Given the description of an element on the screen output the (x, y) to click on. 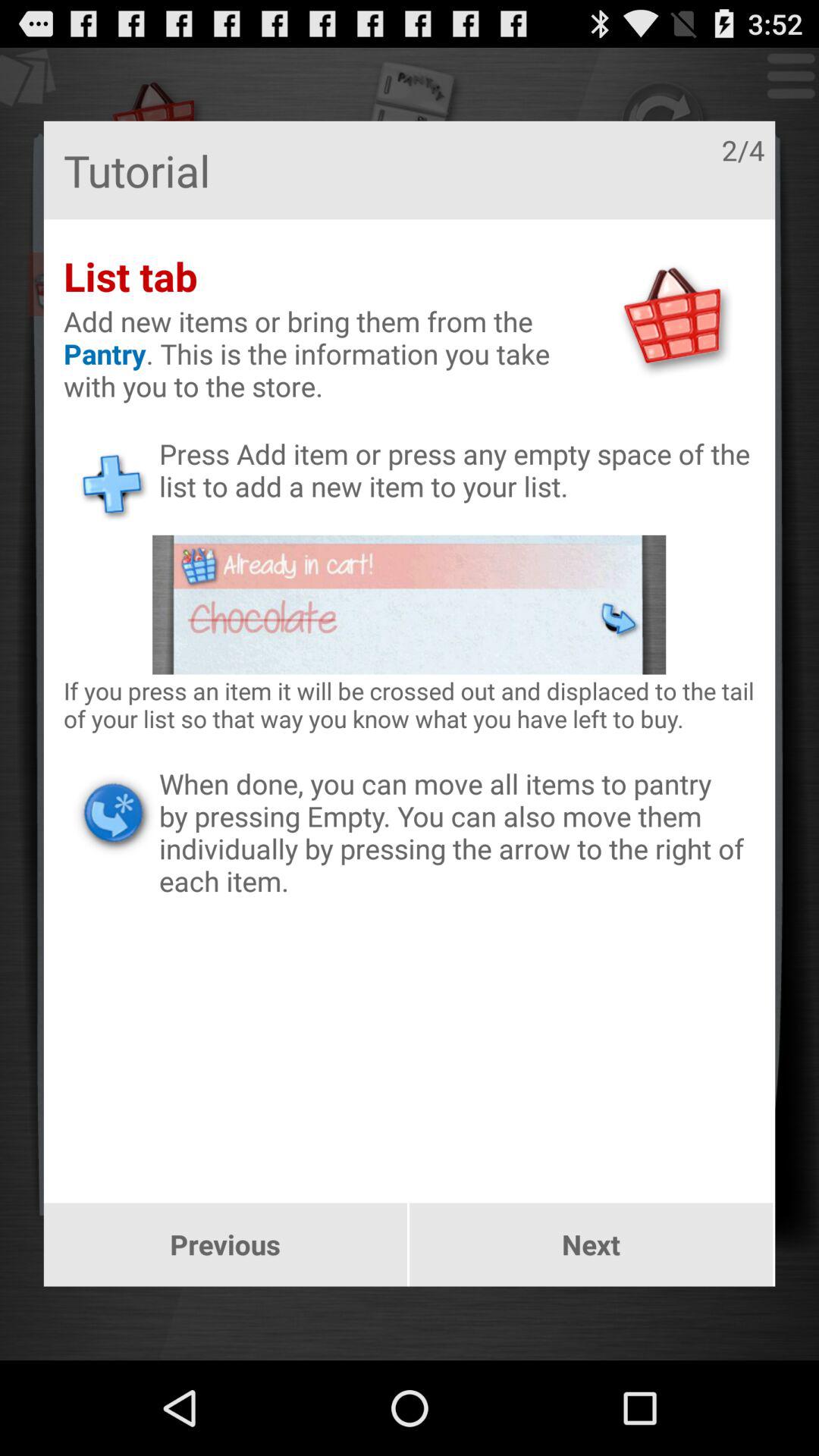
select the item below when done you icon (590, 1244)
